Given the description of an element on the screen output the (x, y) to click on. 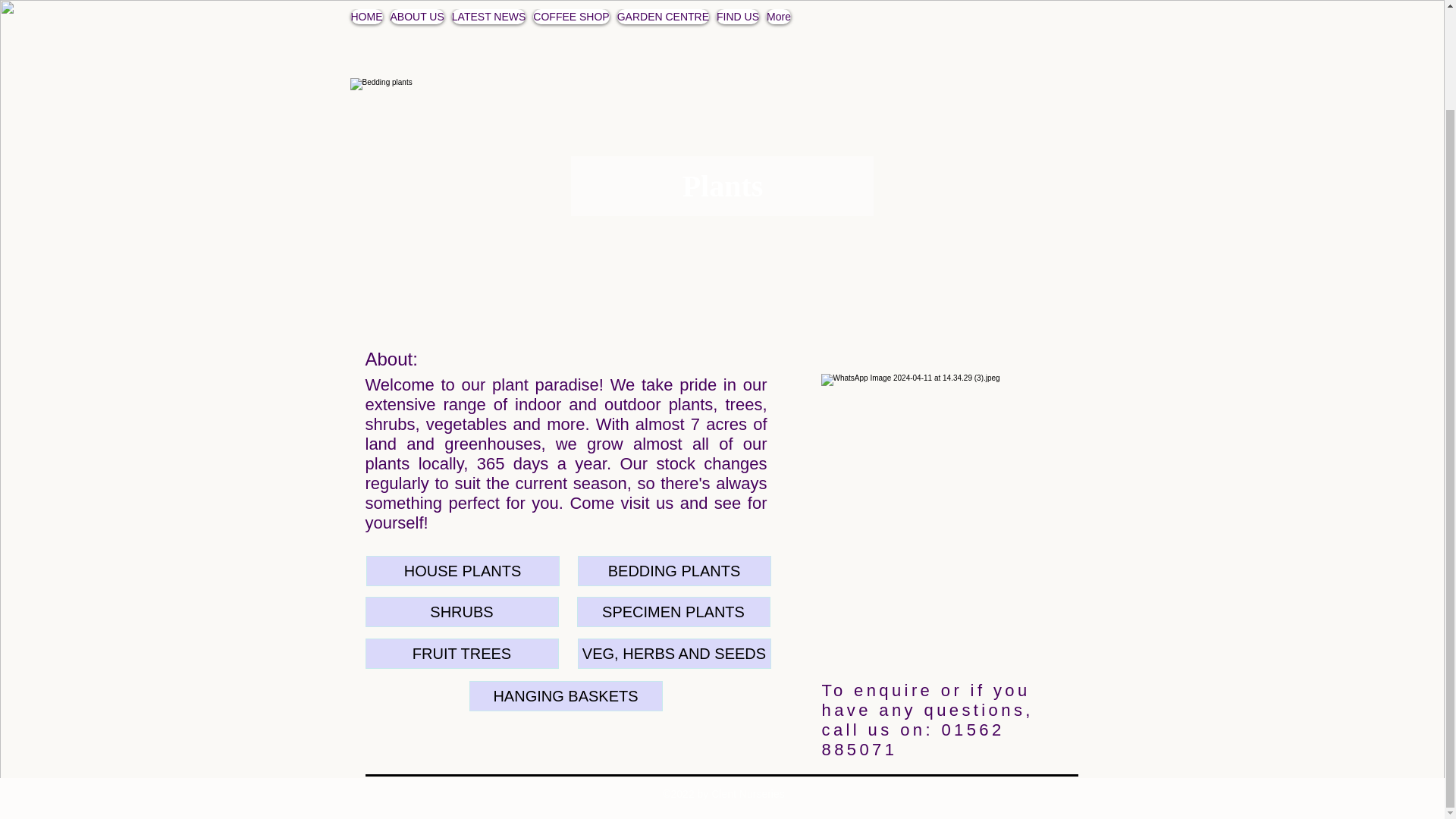
HOUSE PLANTS (462, 571)
HANGING BASKETS (565, 695)
FRUIT TREES (462, 653)
VEG, HERBS AND SEEDS (674, 653)
LATEST NEWS (488, 40)
SPECIMEN PLANTS (673, 612)
SHRUBS (462, 612)
BEDDING PLANTS (674, 571)
